Given the description of an element on the screen output the (x, y) to click on. 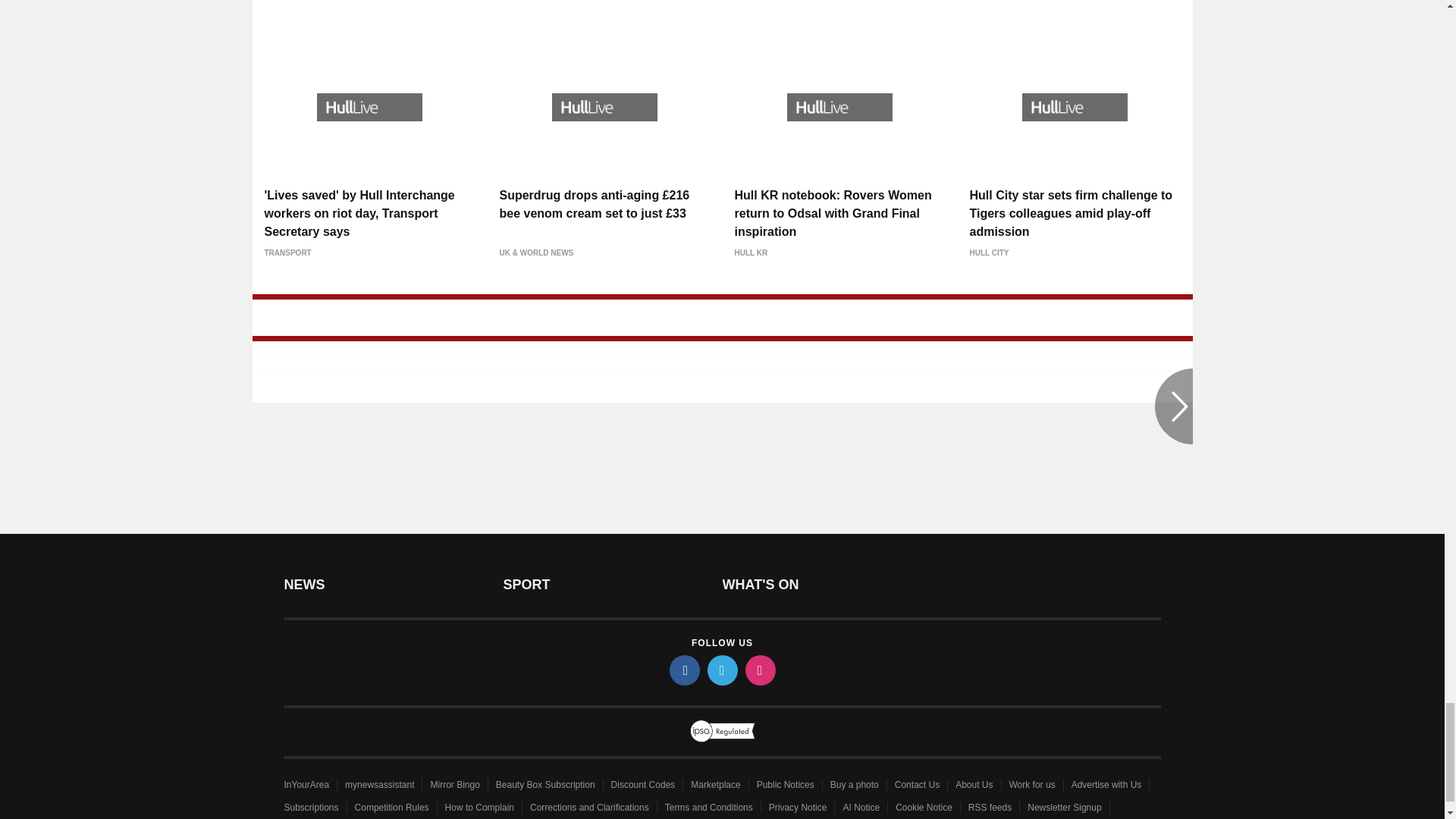
twitter (721, 670)
instagram (759, 670)
facebook (683, 670)
